Given the description of an element on the screen output the (x, y) to click on. 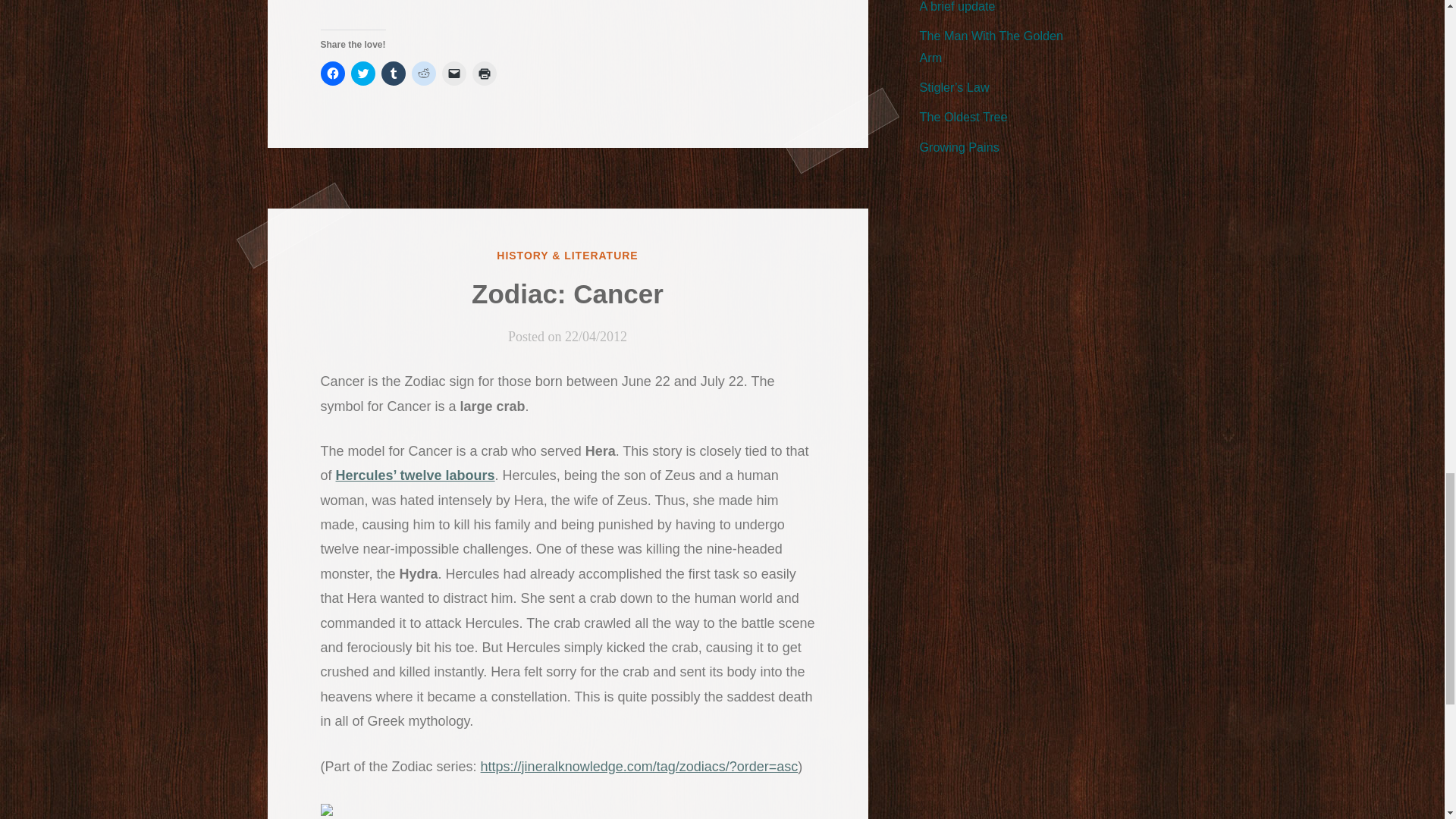
Click to email a link to a friend (453, 73)
Click to share on Twitter (362, 73)
Zodiac: Cancer (567, 293)
Click to share on Facebook (331, 73)
Click to print (483, 73)
Click to share on Tumblr (392, 73)
Click to share on Reddit (422, 73)
